Given the description of an element on the screen output the (x, y) to click on. 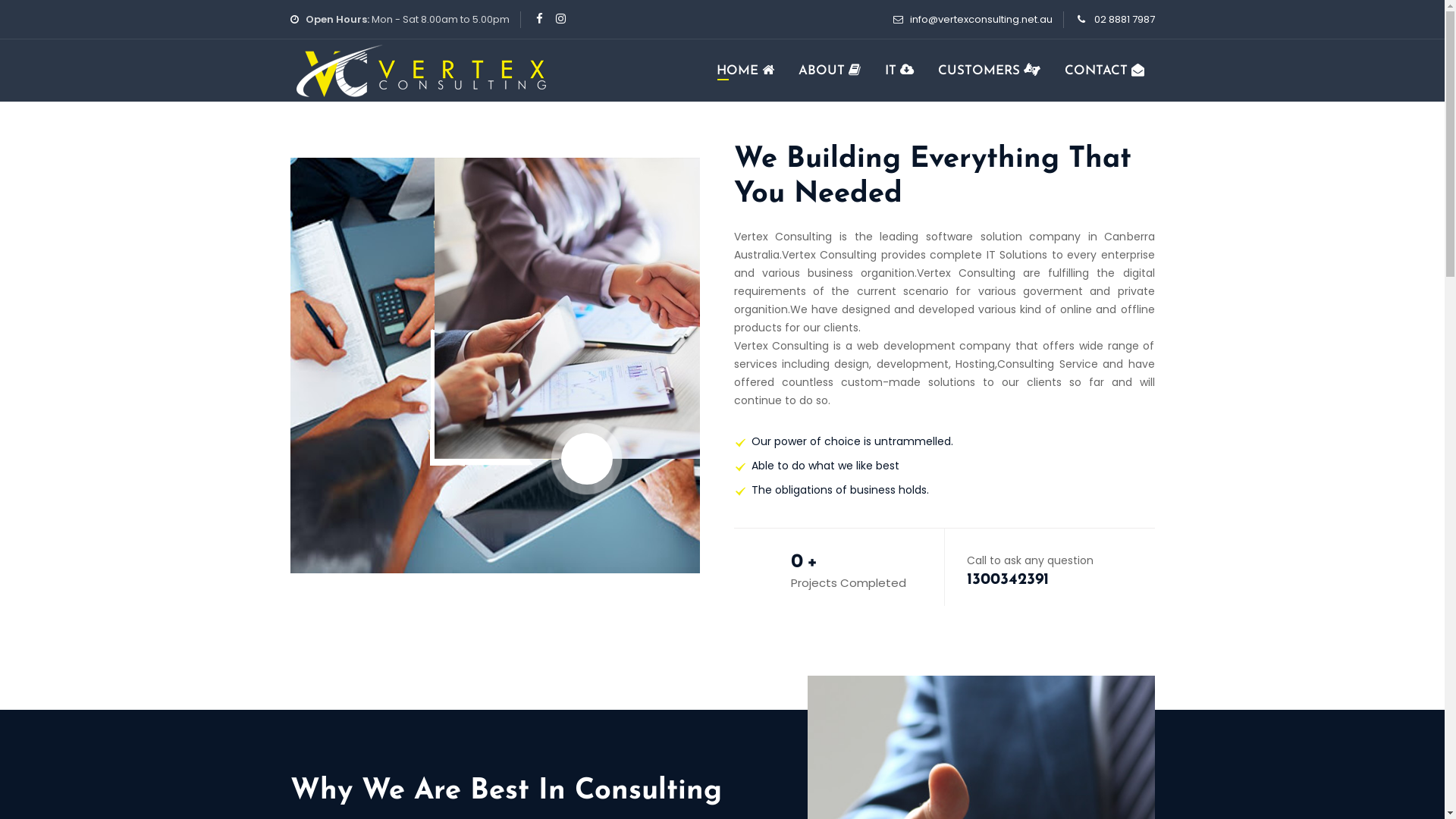
info@vertexconsulting.net.au Element type: text (981, 19)
Fondex Element type: hover (422, 70)
02 8881 7987 Element type: text (1123, 19)
CONTACT Element type: text (1104, 71)
ABOUT Element type: text (828, 71)
IT Element type: text (898, 71)
HOME Element type: text (744, 71)
CUSTOMERS Element type: text (988, 71)
